Given the description of an element on the screen output the (x, y) to click on. 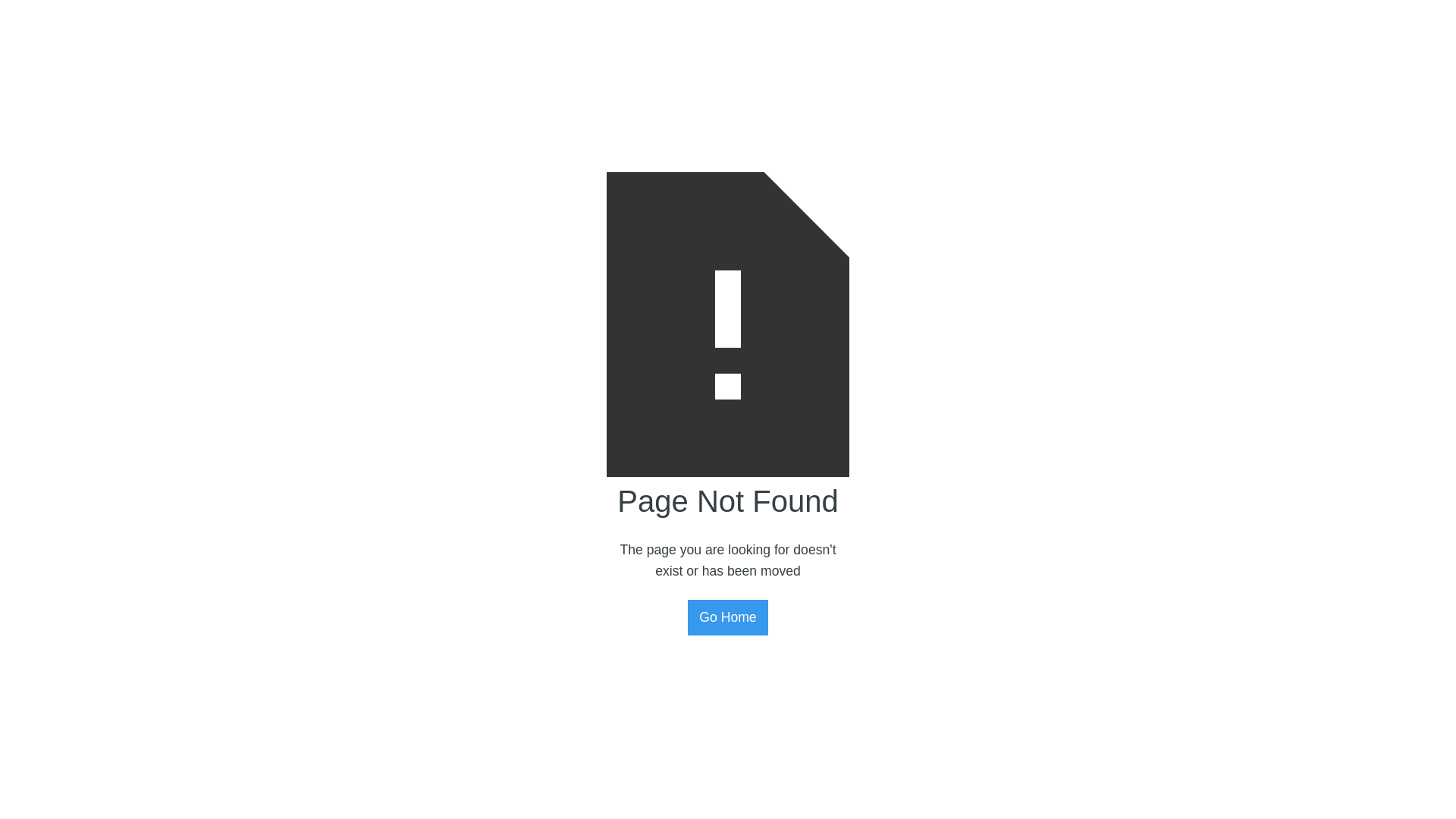
Go Home Element type: text (727, 616)
